Given the description of an element on the screen output the (x, y) to click on. 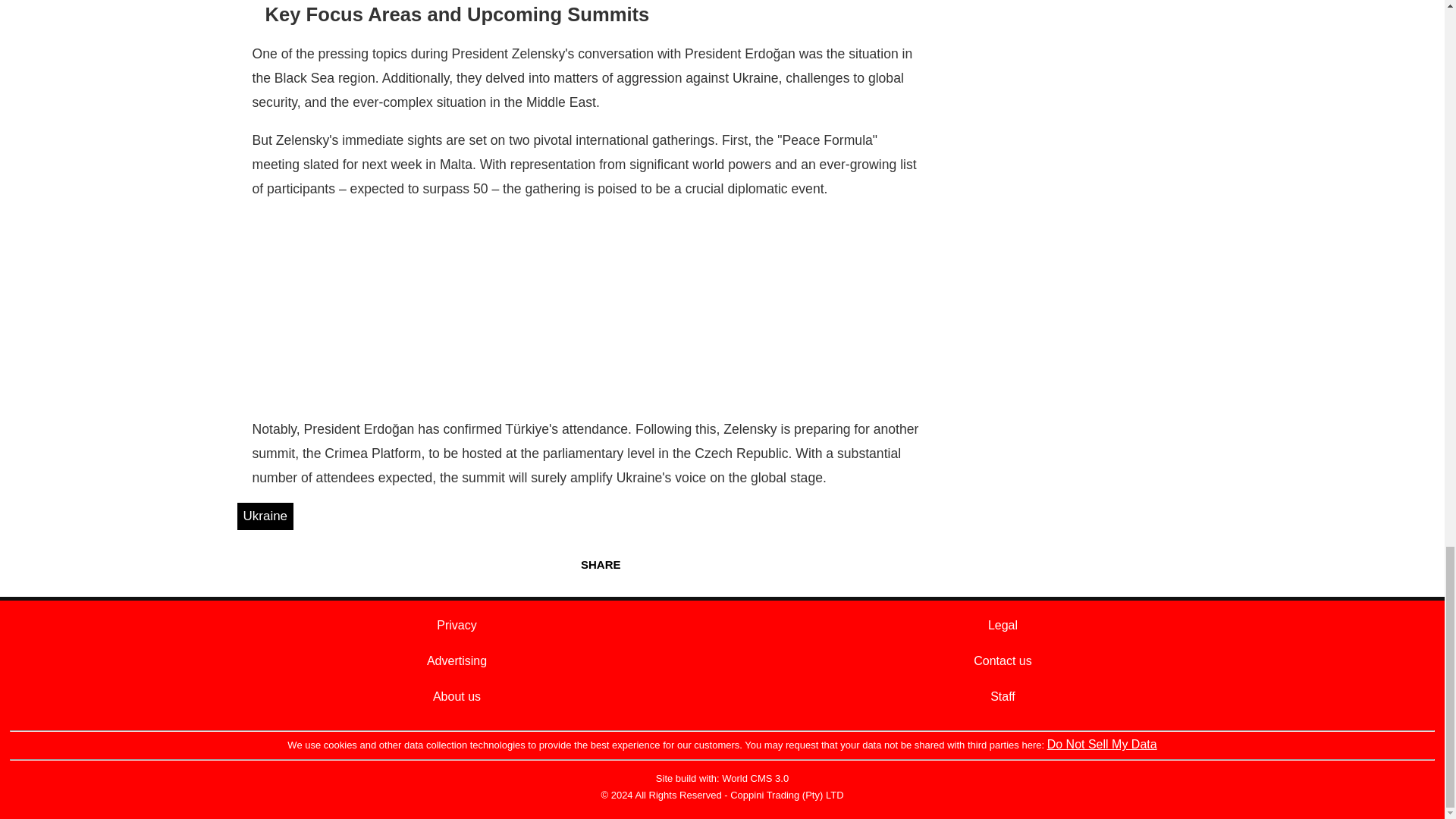
Advertising (456, 660)
Privacy (456, 625)
Legal (1002, 625)
Contact us (1002, 660)
Ukraine (264, 515)
